Given the description of an element on the screen output the (x, y) to click on. 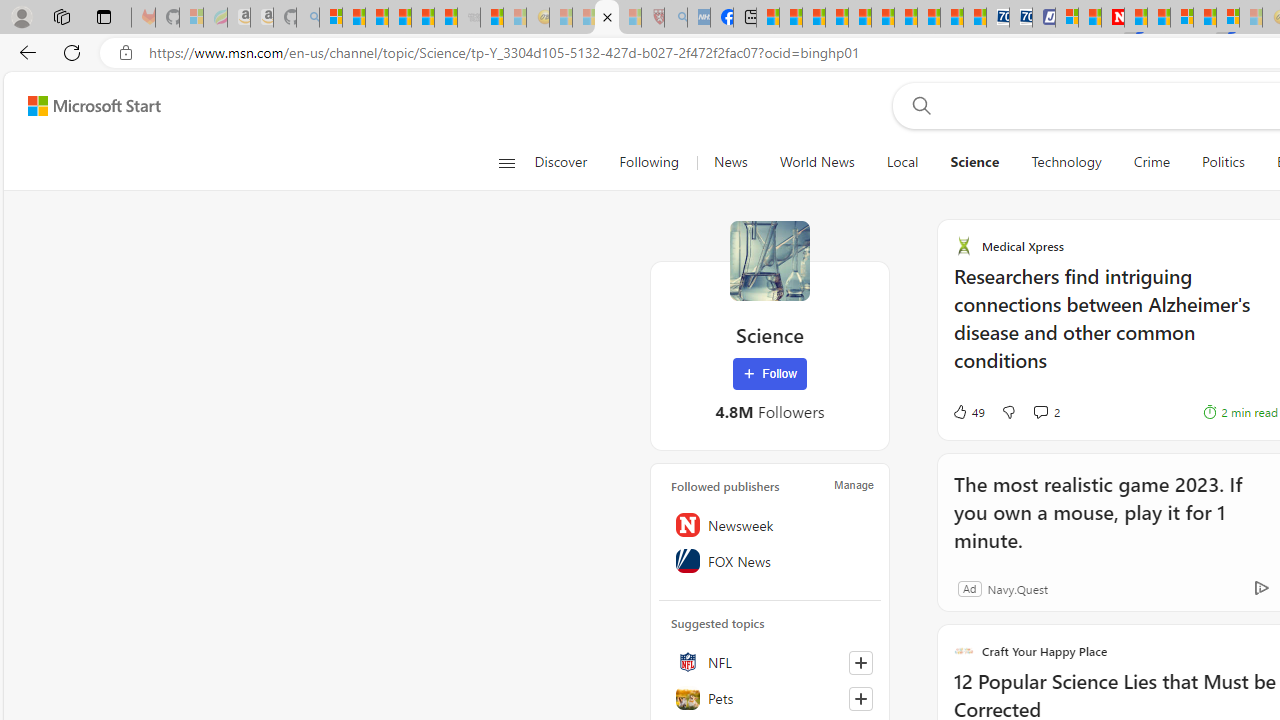
The Weather Channel - MSN (376, 17)
